Given the description of an element on the screen output the (x, y) to click on. 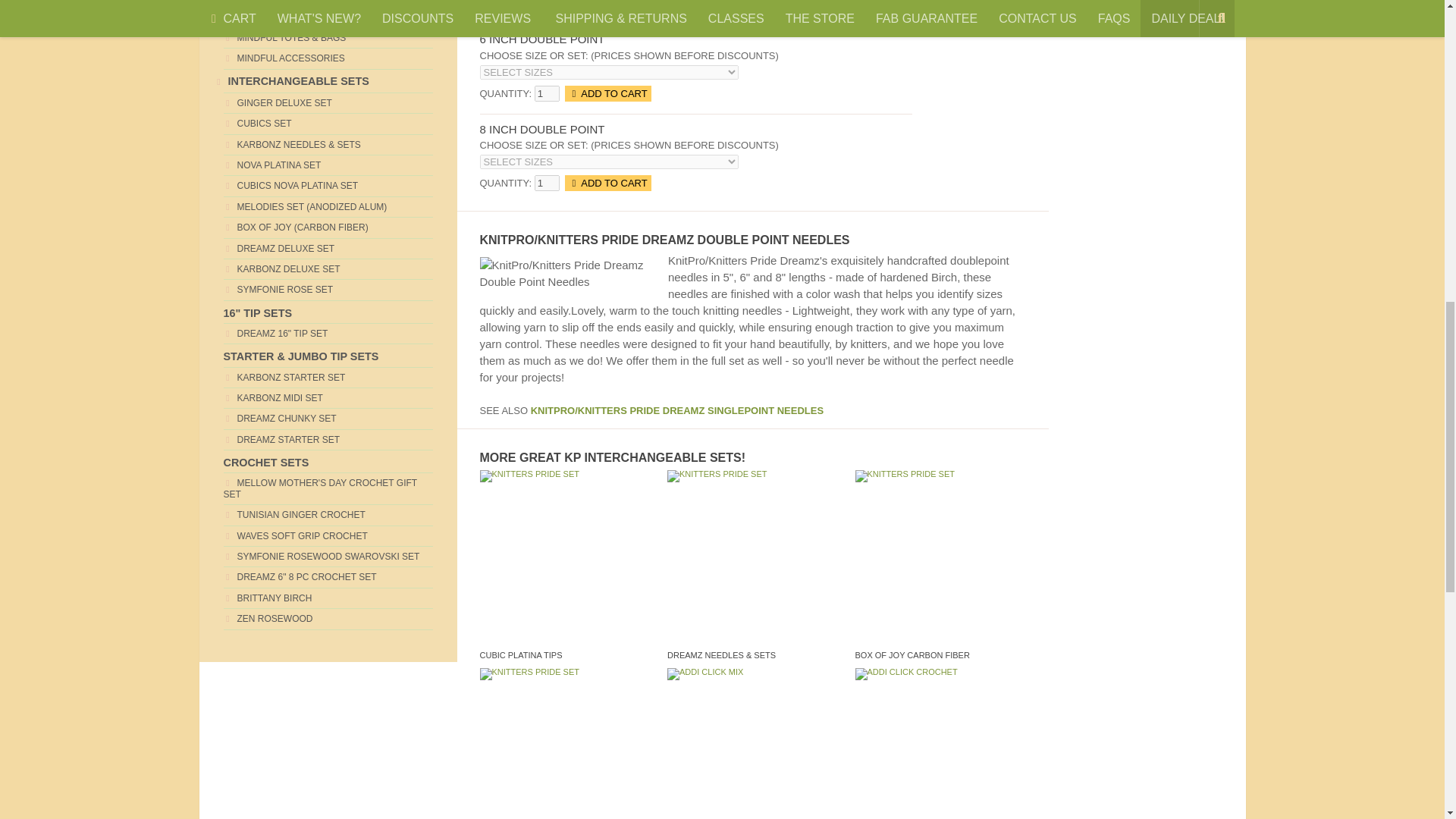
1 (546, 5)
1 (546, 182)
ADD TO CART (607, 92)
ADD TO CART (607, 5)
1 (546, 92)
ADD TO CART (607, 182)
